Given the description of an element on the screen output the (x, y) to click on. 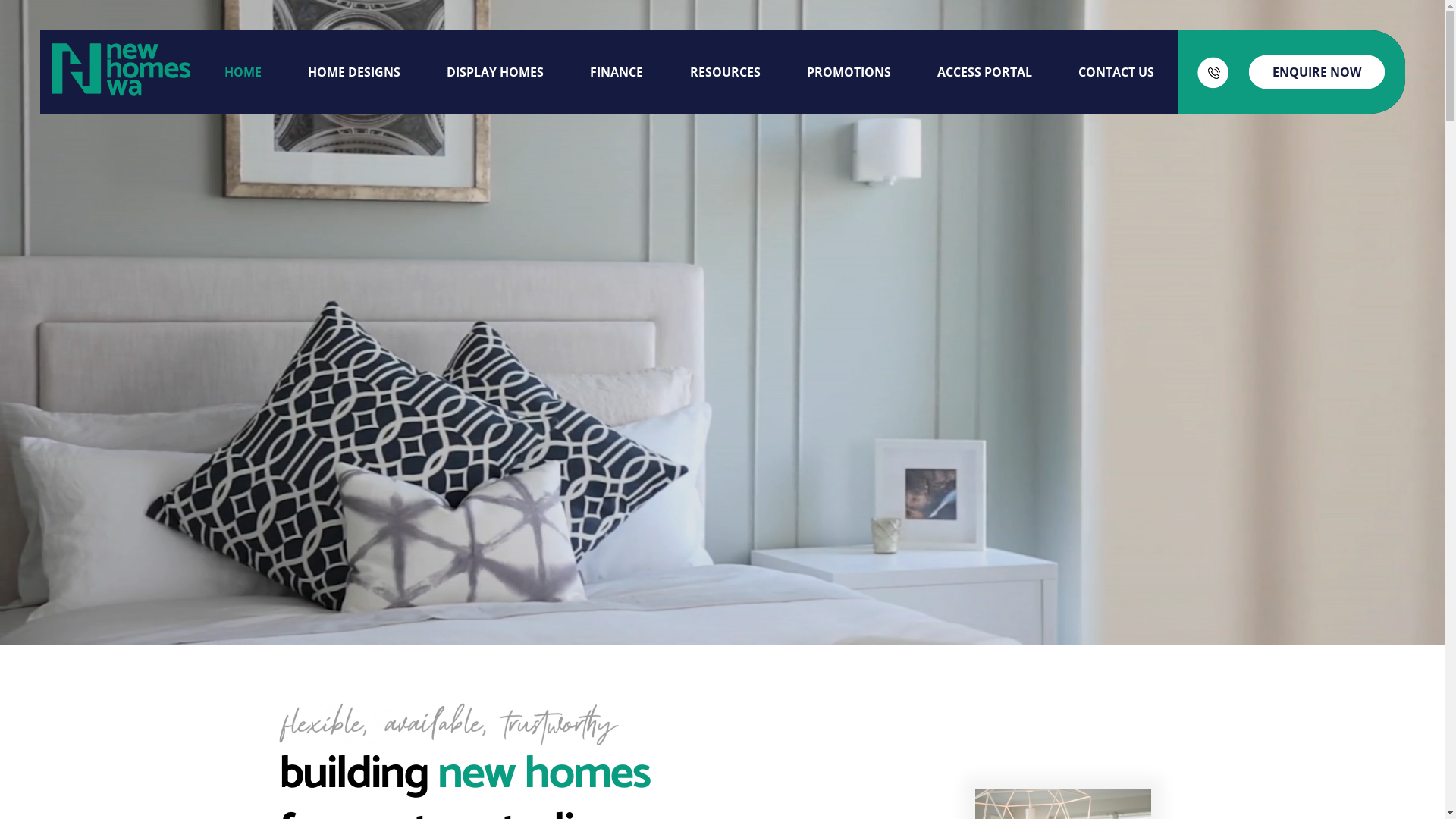
PROMOTIONS Element type: text (848, 71)
HOME Element type: text (242, 71)
DISPLAY HOMES Element type: text (494, 71)
ENQUIRE NOW Element type: text (1316, 71)
CONTACT US Element type: text (1116, 71)
ACCESS PORTAL Element type: text (984, 71)
RESOURCES Element type: text (725, 71)
FINANCE Element type: text (616, 71)
HOME DESIGNS Element type: text (353, 71)
